Given the description of an element on the screen output the (x, y) to click on. 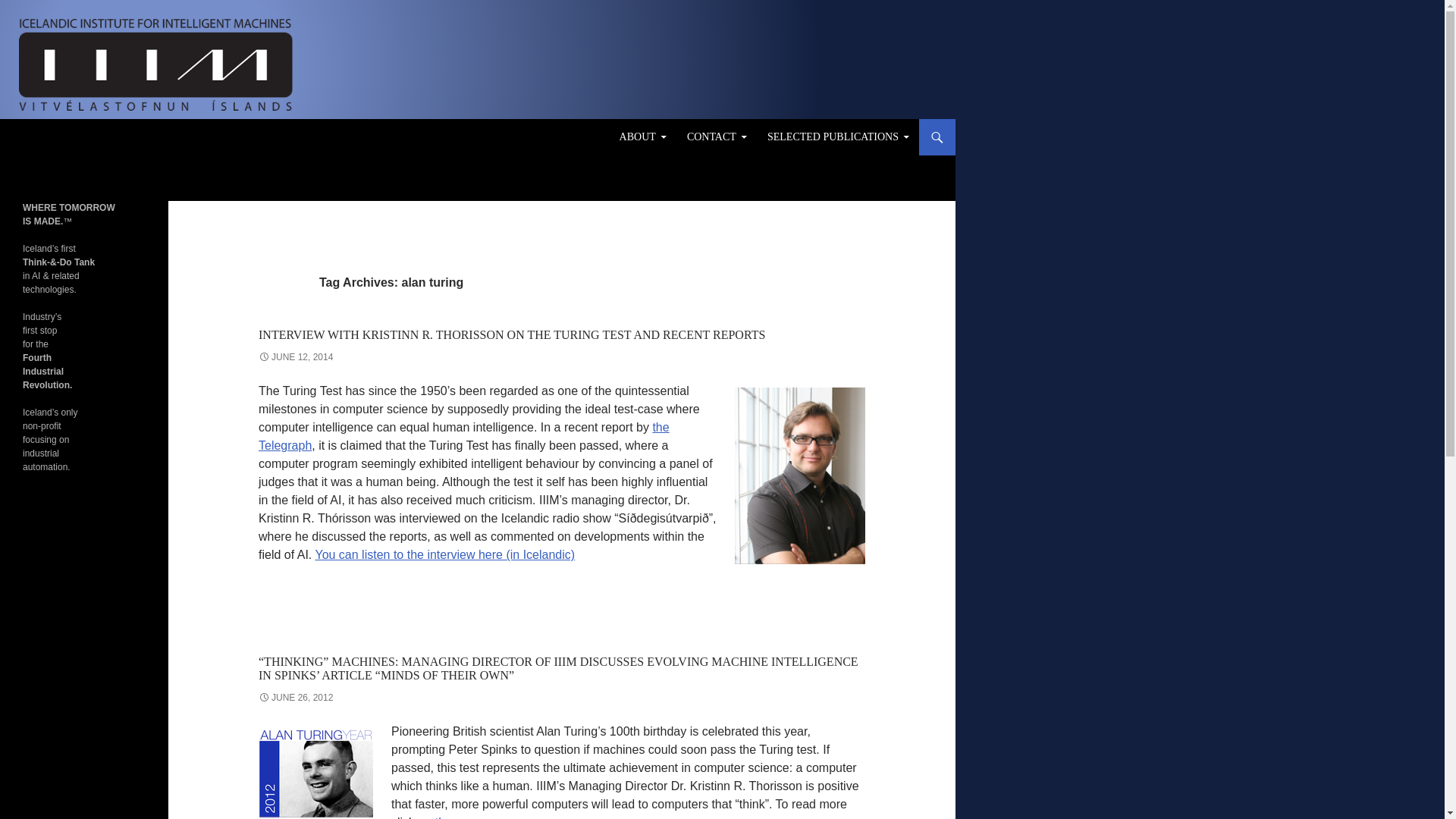
CONTACT (716, 136)
JUNE 12, 2014 (296, 357)
SELECTED PUBLICATIONS (838, 136)
the Telegraph (464, 436)
ABOUT (642, 136)
ATY-logo (315, 772)
JUNE 26, 2012 (296, 697)
